Given the description of an element on the screen output the (x, y) to click on. 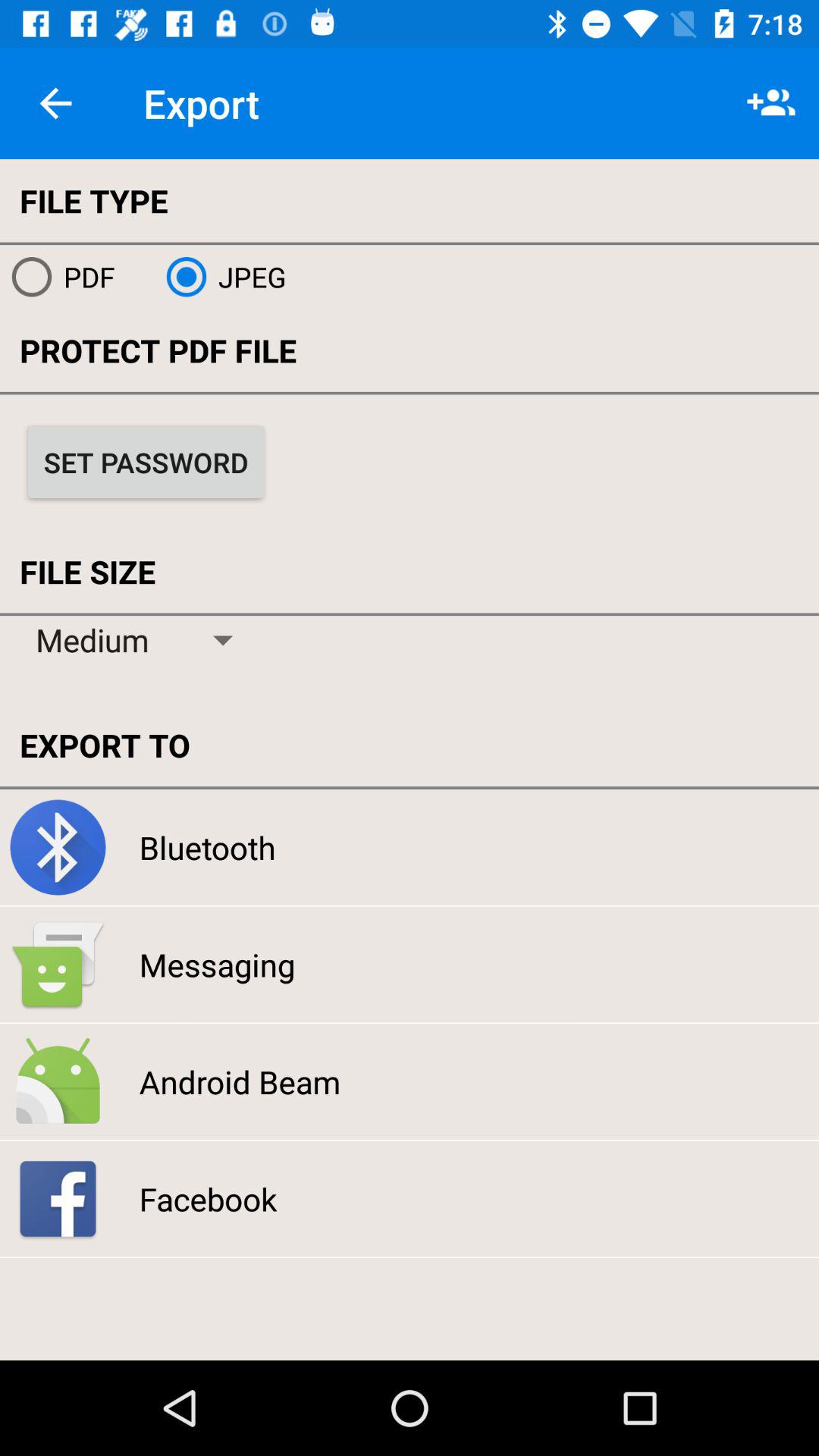
jump to the bluetooth icon (207, 847)
